Given the description of an element on the screen output the (x, y) to click on. 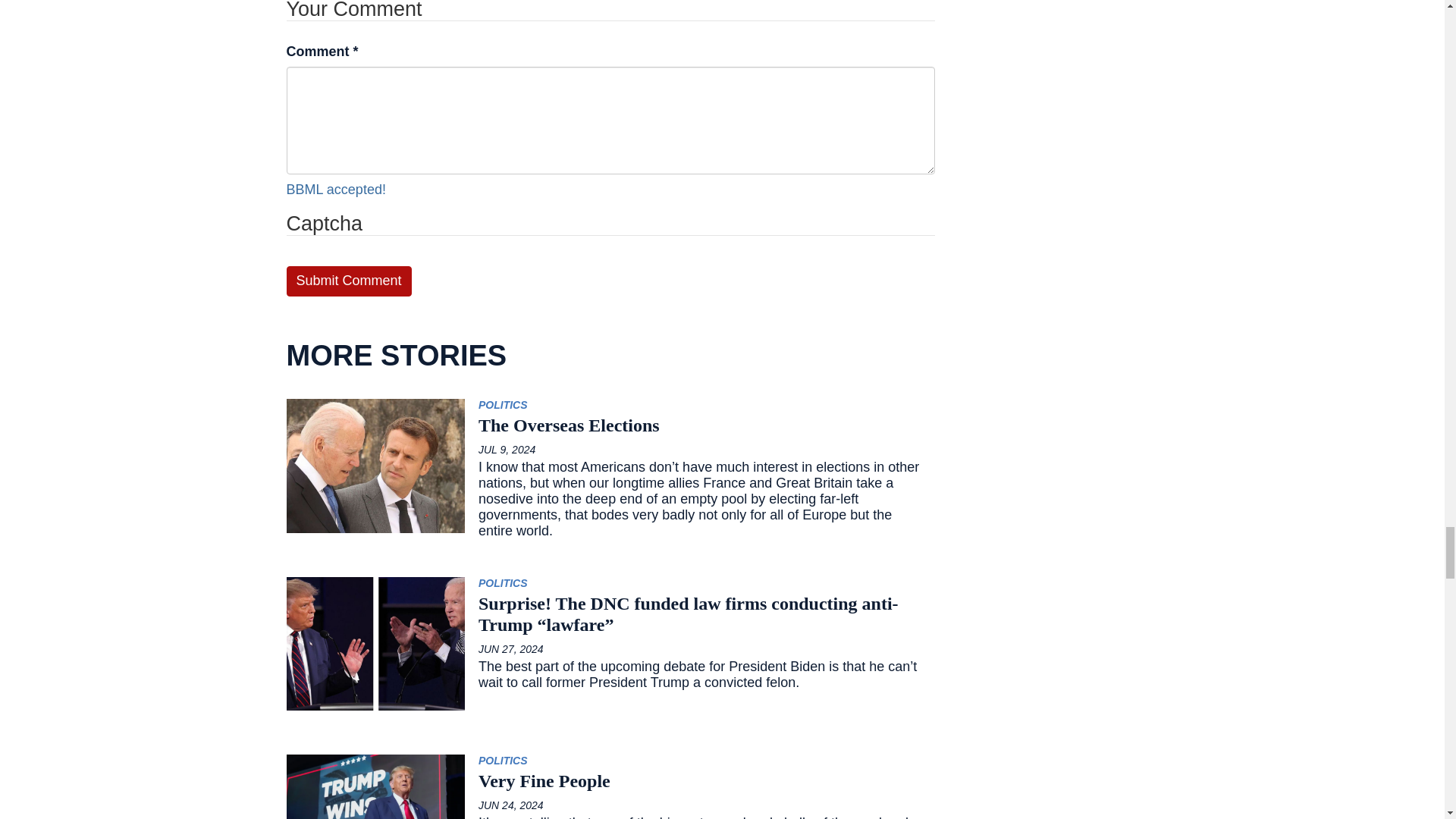
Submit Comment (349, 281)
Submit Comment (349, 281)
